Given the description of an element on the screen output the (x, y) to click on. 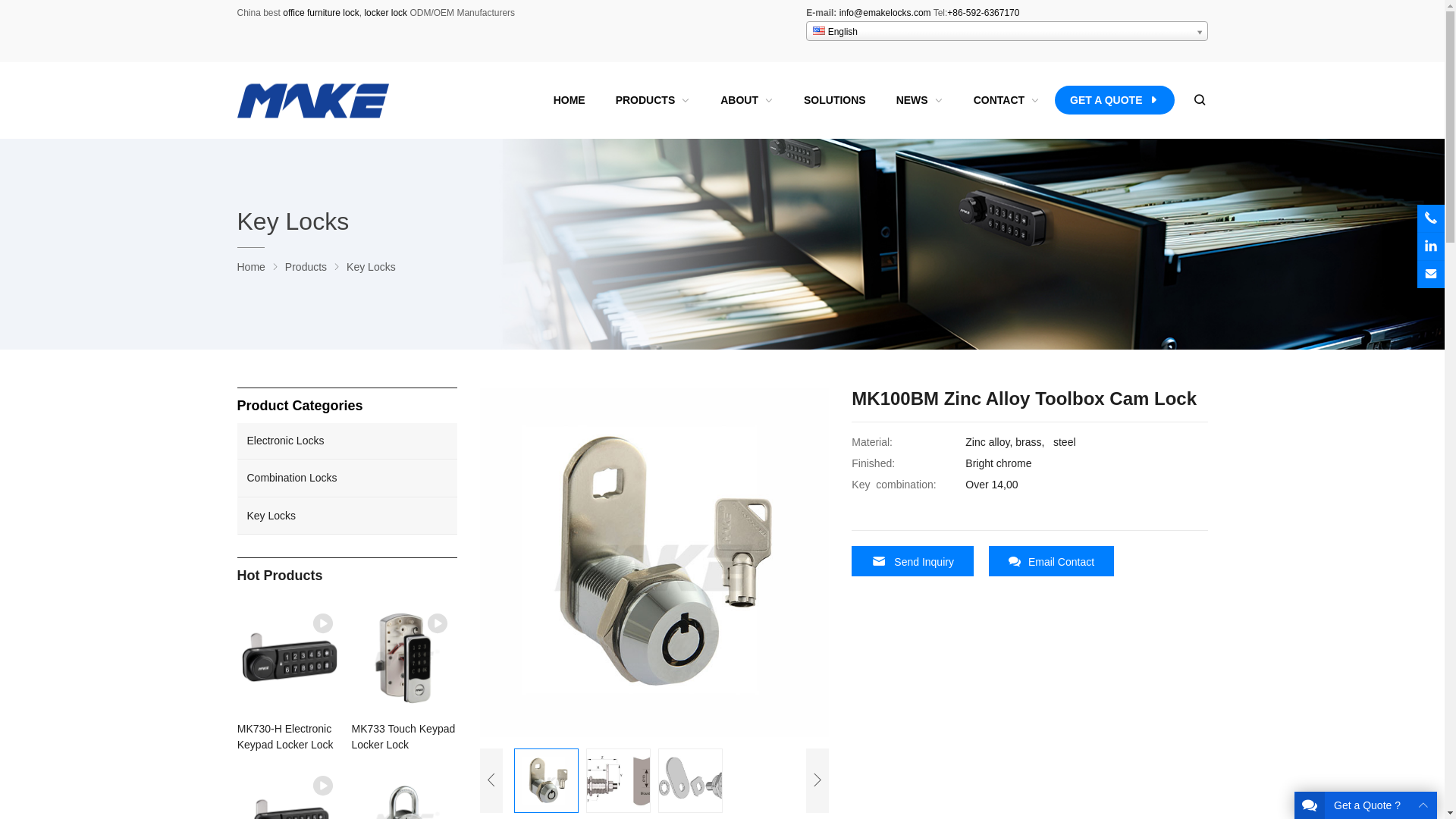
Search (1198, 100)
LinkedIn (1430, 245)
locker lock (384, 12)
Email Contact (1050, 561)
HOME (568, 100)
GET A QUOTE (1113, 99)
office furniture lock (320, 12)
SOLUTIONS (834, 100)
Hot Products (346, 575)
NEWS (919, 100)
Send Inquiry (912, 561)
CONTACT (1006, 100)
ABOUT (746, 100)
English (1006, 30)
Home (249, 266)
